Given the description of an element on the screen output the (x, y) to click on. 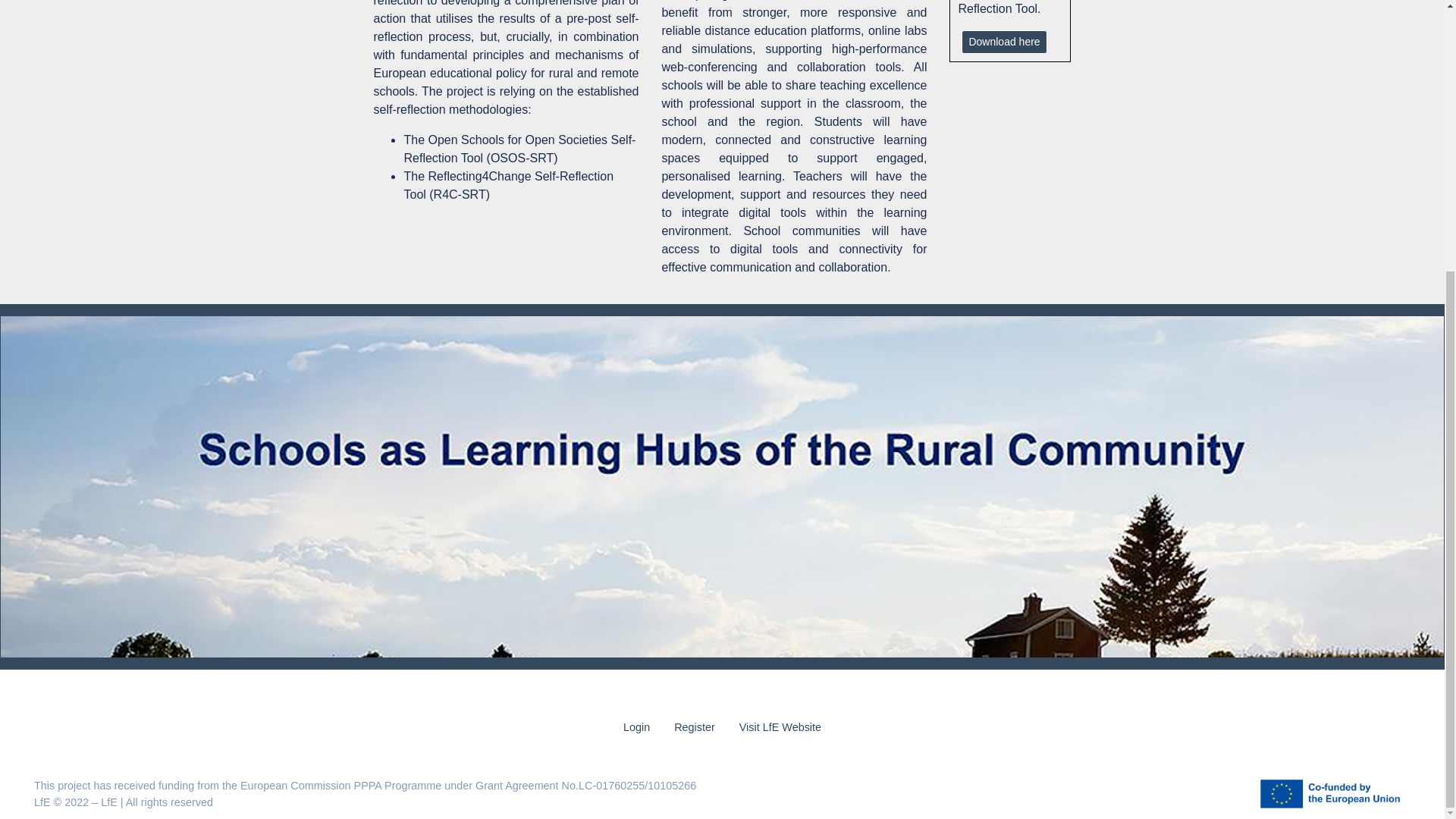
Visit LfE Website (779, 727)
Download here (1003, 42)
Register (694, 727)
Login (636, 727)
